Given the description of an element on the screen output the (x, y) to click on. 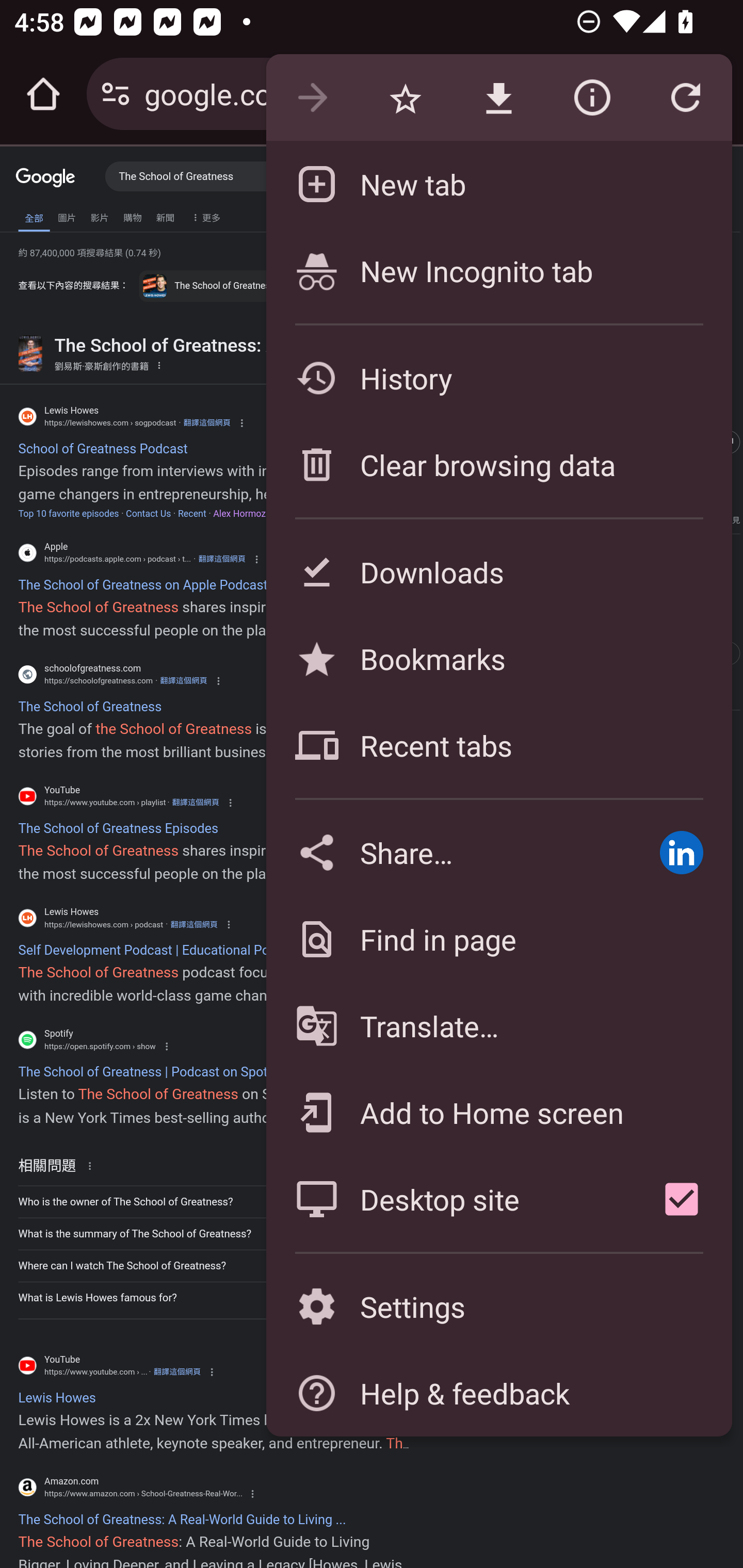
Forward (311, 97)
Bookmark (404, 97)
Download (498, 97)
Page info (591, 97)
Refresh (684, 97)
New tab (498, 184)
New Incognito tab (498, 270)
History (498, 377)
Clear browsing data (498, 464)
Downloads (498, 571)
Bookmarks (498, 658)
Recent tabs (498, 745)
Share… (447, 852)
Share via Share in a post (680, 852)
Find in page (498, 939)
Translate… (498, 1026)
Add to Home screen (498, 1112)
Desktop site Turn off Request desktop site (447, 1198)
Settings (498, 1306)
Help & feedback (498, 1393)
